Given the description of an element on the screen output the (x, y) to click on. 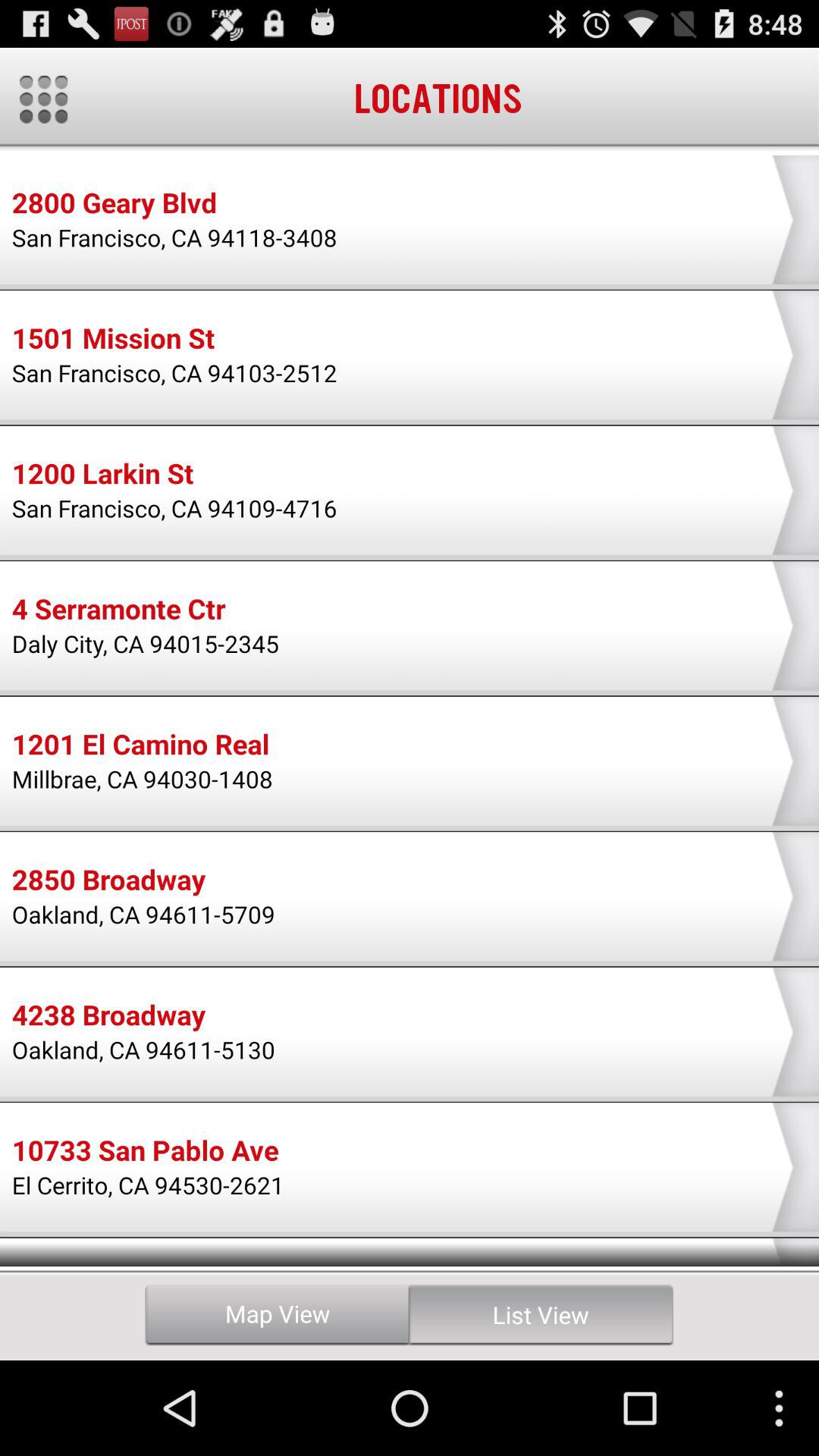
open icon above 1201 el camino icon (145, 643)
